Given the description of an element on the screen output the (x, y) to click on. 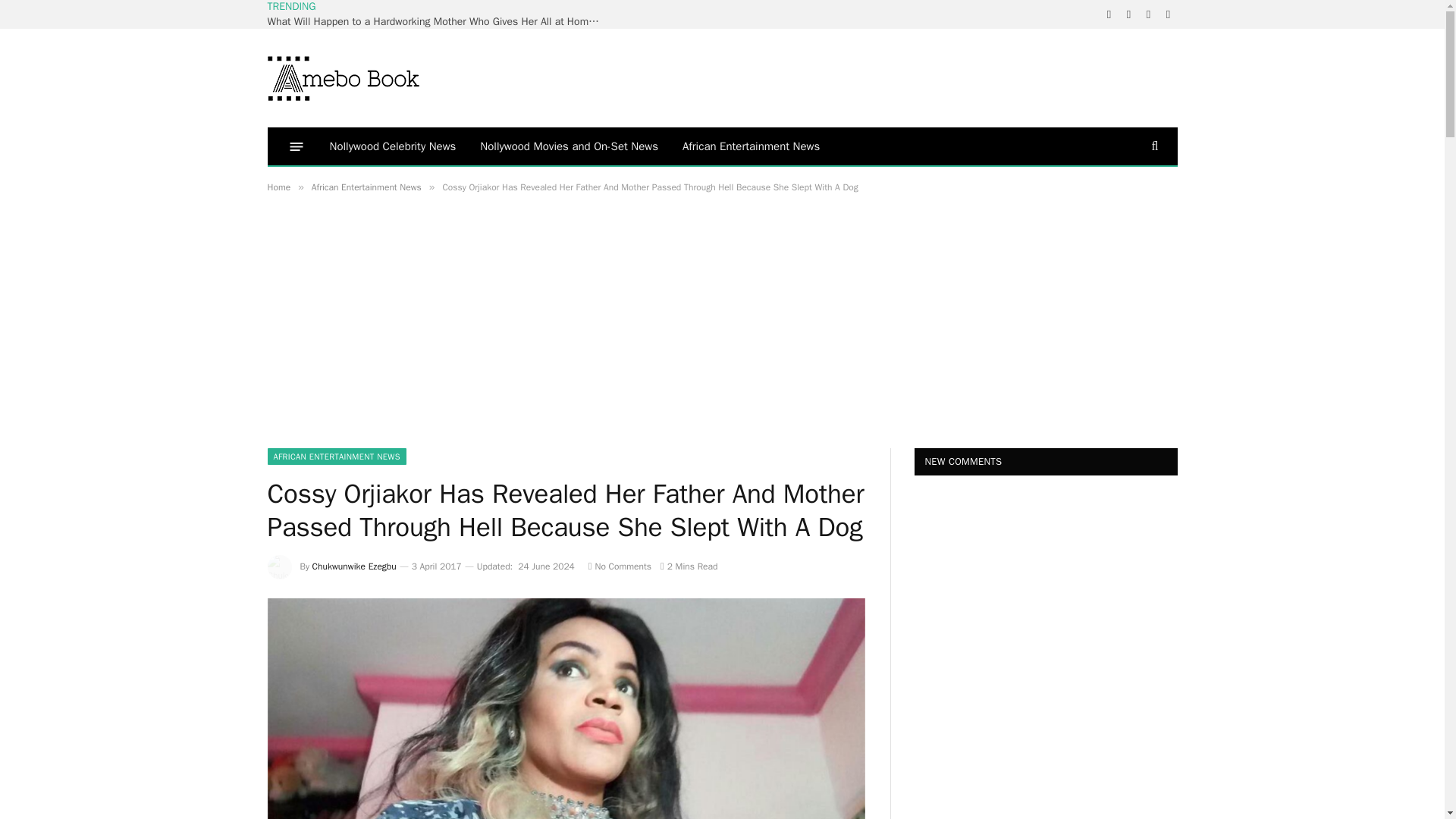
Nollywood Movies and On-Set News (568, 146)
Home (277, 186)
Posts by Chukwunwike Ezegbu (354, 566)
Nollywood Celebrity News (392, 146)
AFRICAN ENTERTAINMENT NEWS (336, 456)
African Entertainment News (750, 146)
Amebo Book (342, 78)
African Entertainment News (366, 186)
No Comments (619, 566)
Chukwunwike Ezegbu (354, 566)
